Given the description of an element on the screen output the (x, y) to click on. 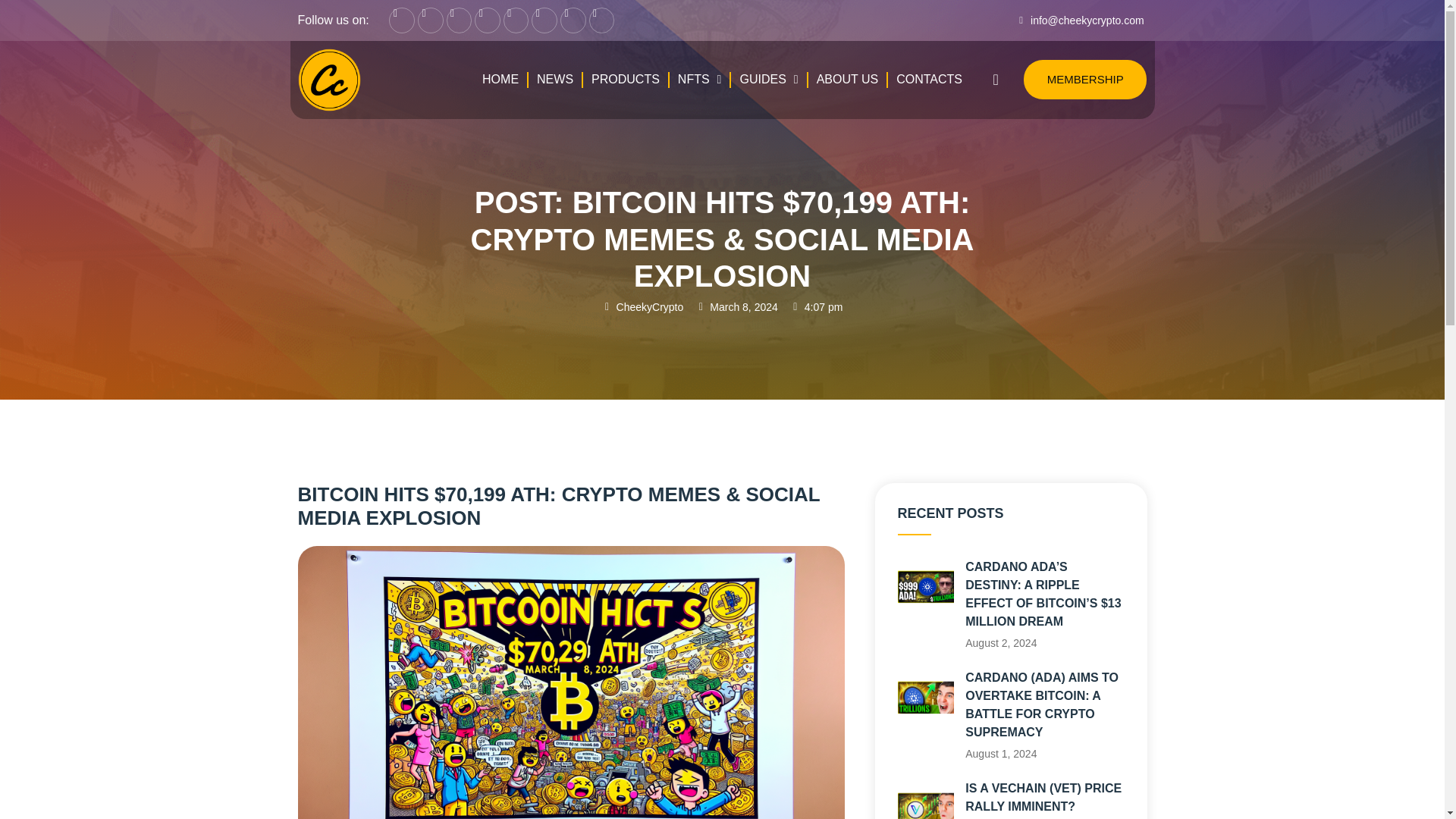
NFTS (699, 79)
HOME (500, 79)
GUIDES (768, 79)
PRODUCTS (625, 79)
CONTACTS (929, 79)
ABOUT US (847, 79)
NEWS (554, 79)
